Given the description of an element on the screen output the (x, y) to click on. 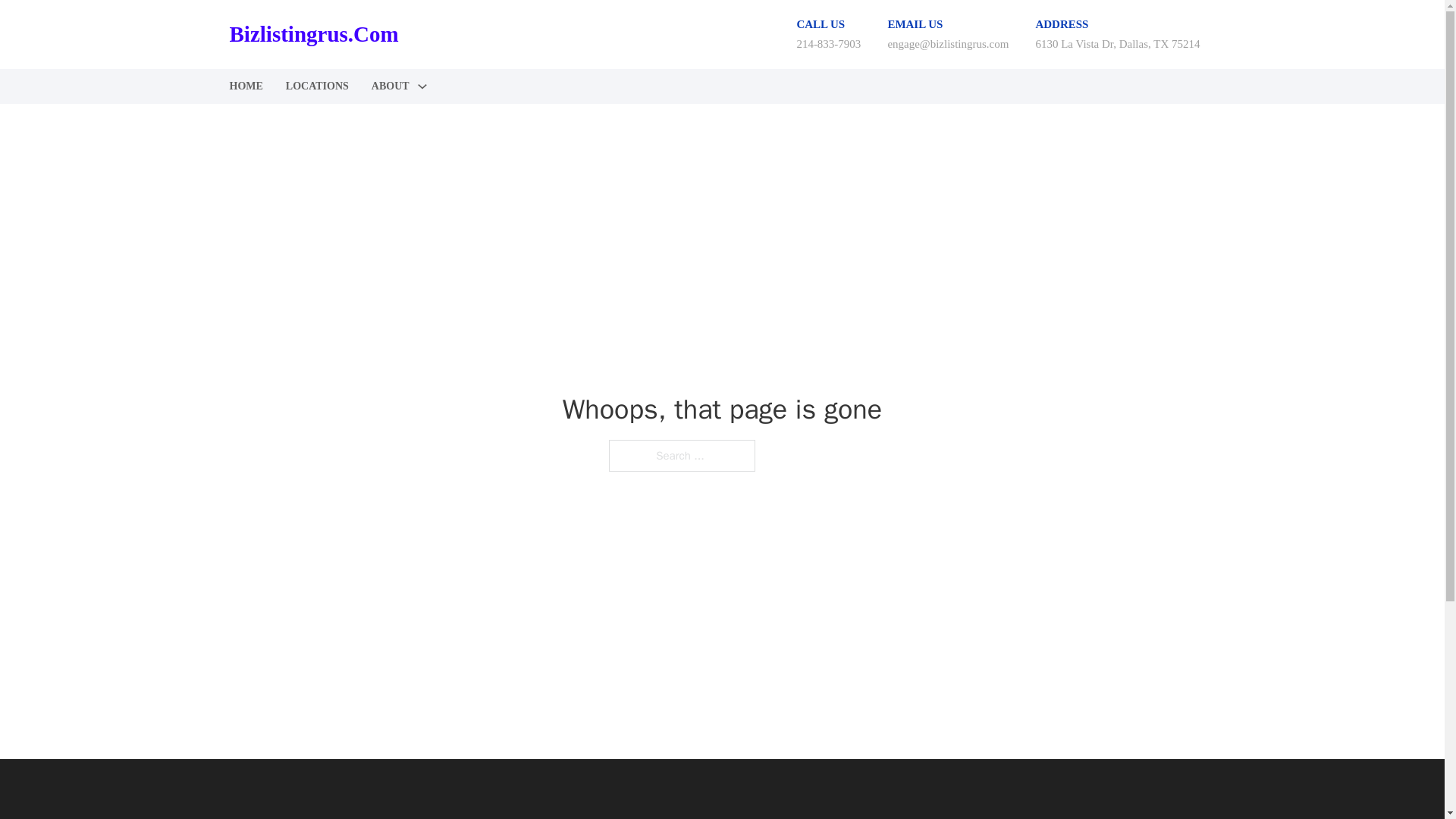
Bizlistingrus.Com (312, 34)
HOME (245, 85)
LOCATIONS (317, 85)
214-833-7903 (828, 43)
